Given the description of an element on the screen output the (x, y) to click on. 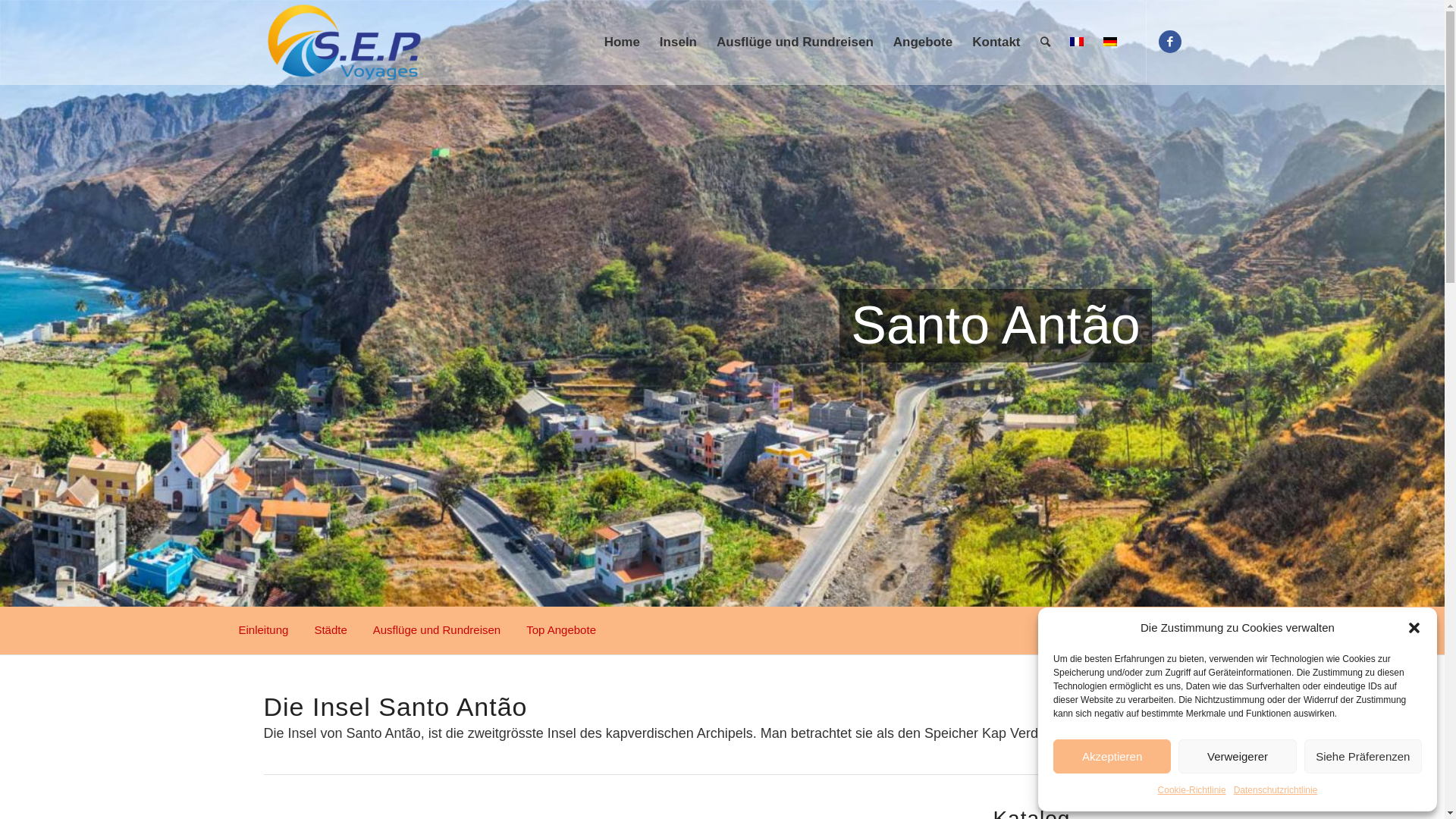
Top Angebote Element type: text (560, 629)
Angebote Element type: text (922, 42)
Einleitung Element type: text (263, 629)
Facebook Element type: hover (1169, 41)
Home Element type: text (621, 42)
Verweigerer Element type: text (1236, 756)
Akzeptieren Element type: text (1111, 756)
Datenschutzrichtlinie Element type: text (1275, 790)
Deutsch Element type: hover (1109, 41)
Inseln Element type: text (677, 42)
Cookie-Richtlinie Element type: text (1191, 790)
Kontakt Element type: text (995, 42)
